Given the description of an element on the screen output the (x, y) to click on. 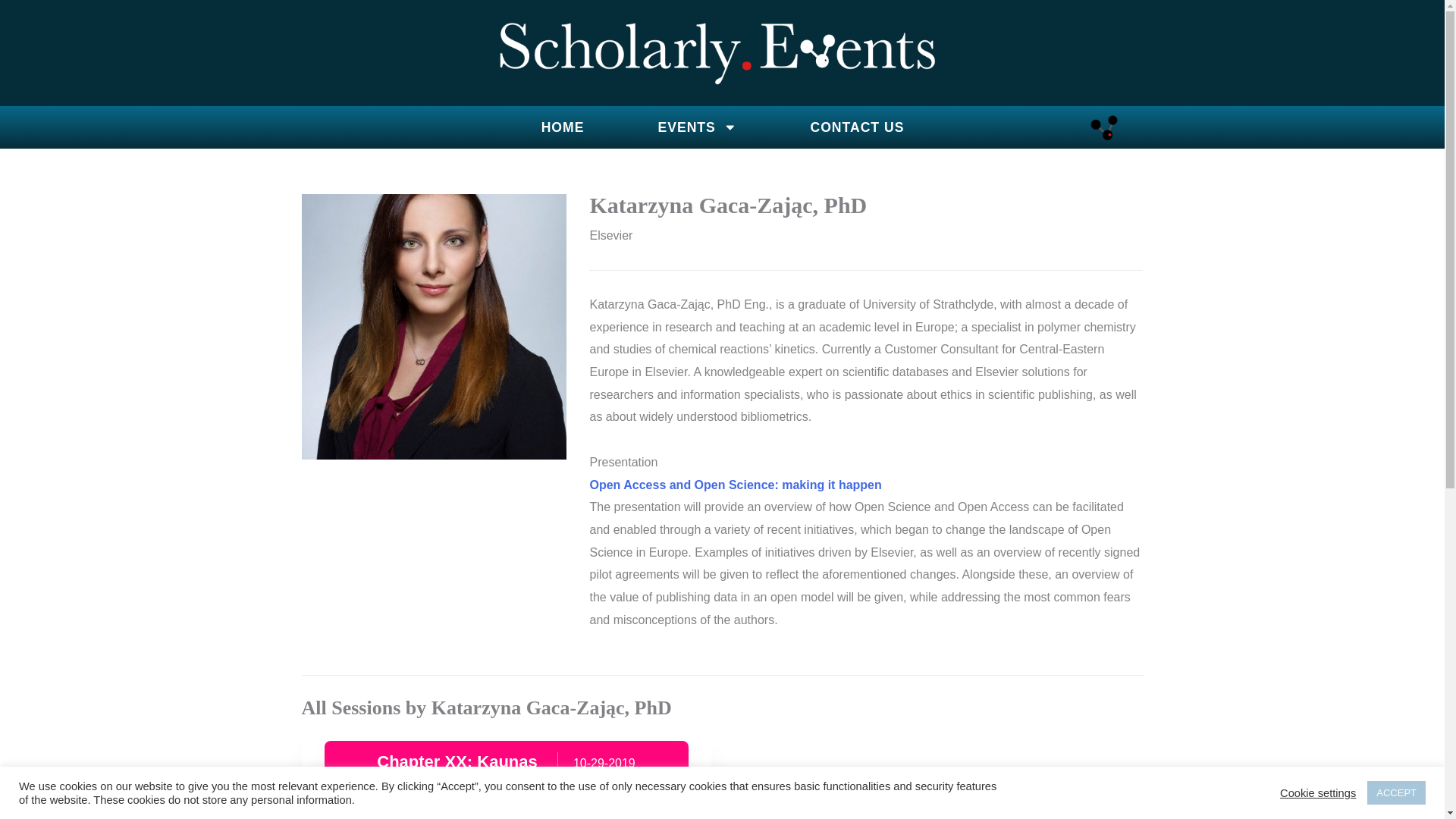
HOME (562, 127)
EVENTS (697, 127)
